Given the description of an element on the screen output the (x, y) to click on. 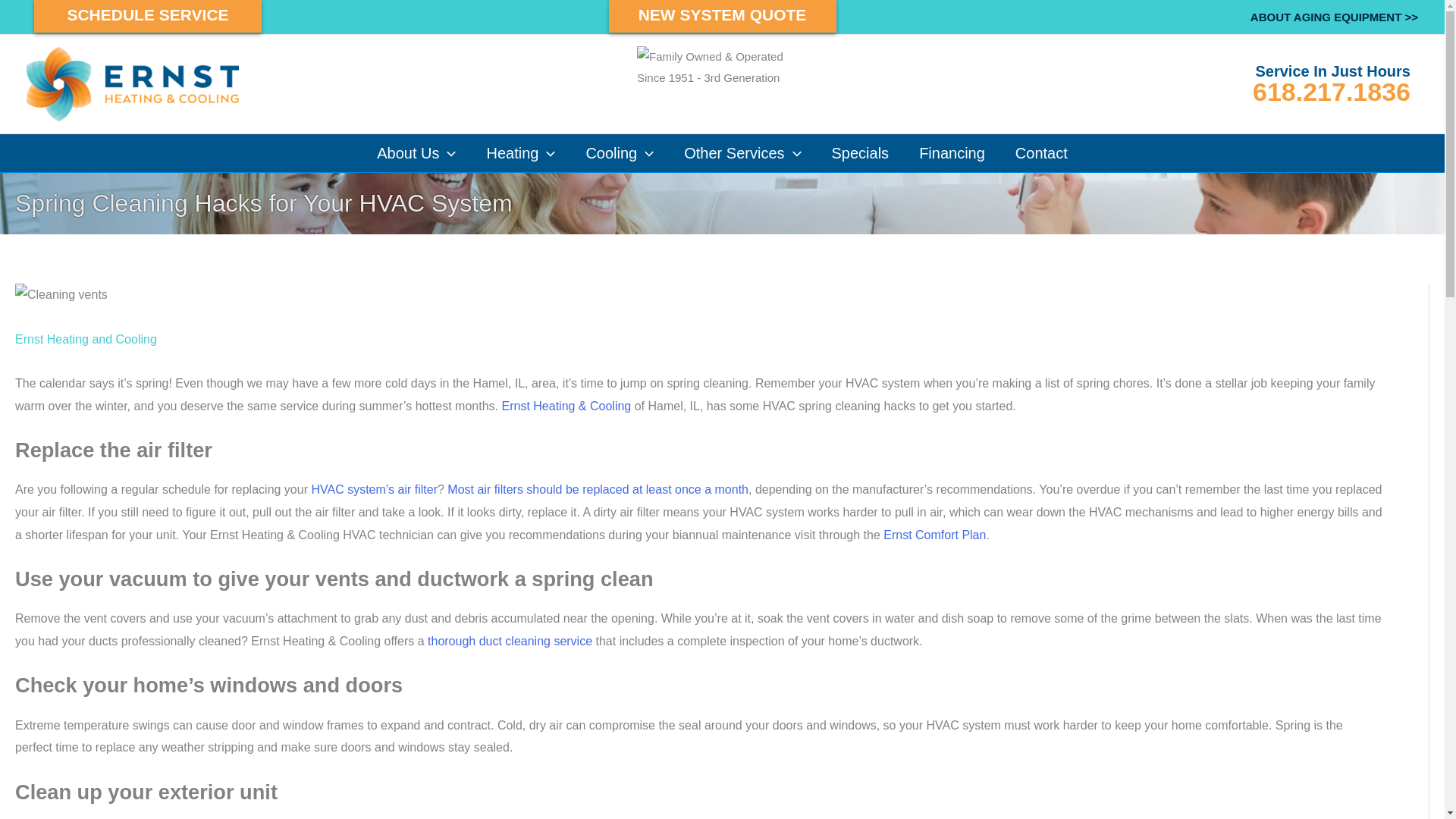
Heating (520, 152)
SCHEDULE SERVICE (147, 16)
NEW SYSTEM QUOTE (721, 16)
Cooling (619, 152)
618.217.1836 (1331, 91)
About Us (415, 152)
